Given the description of an element on the screen output the (x, y) to click on. 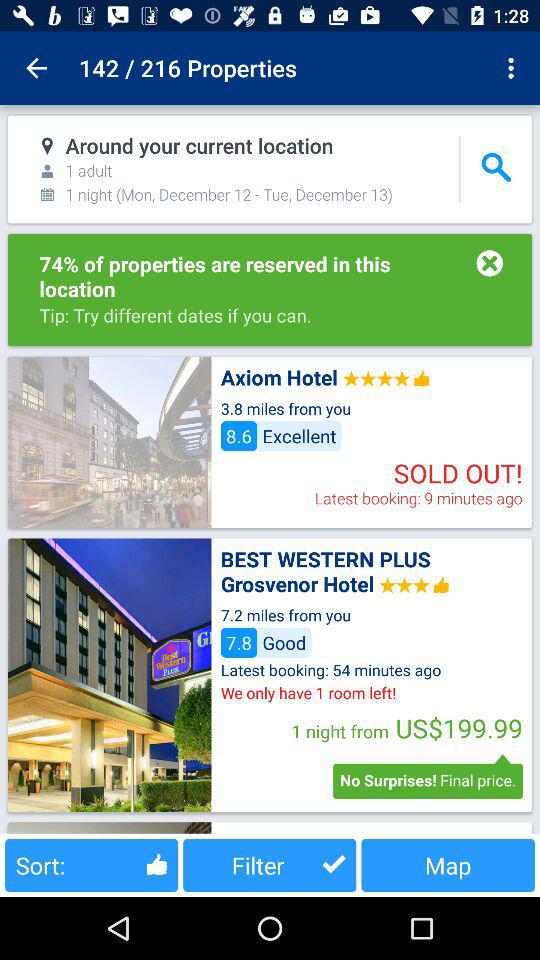
scroll to filter button (269, 864)
